Given the description of an element on the screen output the (x, y) to click on. 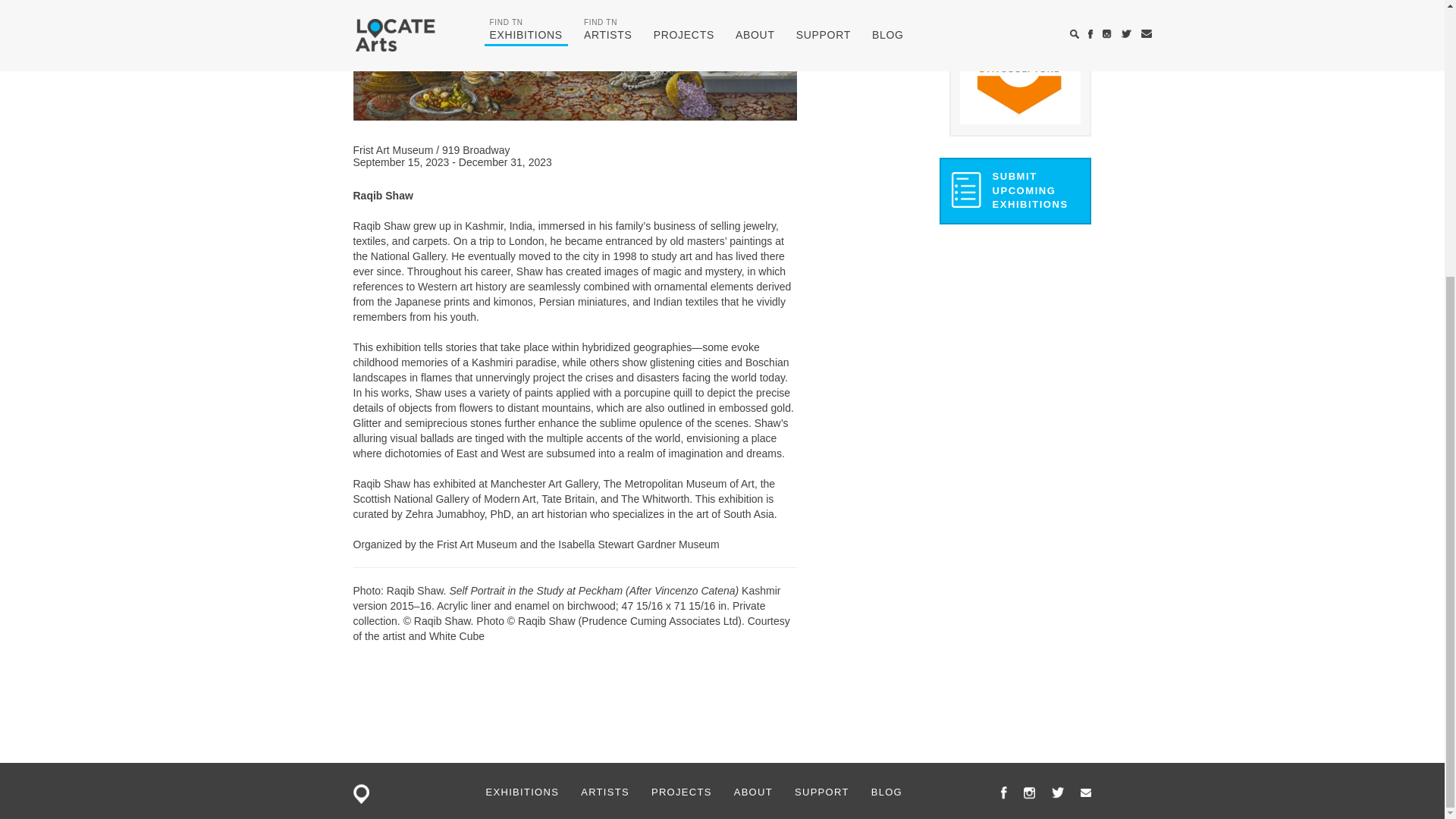
EXHIBITIONS (521, 791)
BLOG (886, 791)
PROJECTS (680, 791)
SUPPORT (821, 791)
Frist Art Museum (394, 150)
919 Broadway (476, 150)
ARTISTS (604, 791)
ABOUT (753, 791)
SUBMIT UPCOMING EXHIBITIONS (1014, 191)
